Given the description of an element on the screen output the (x, y) to click on. 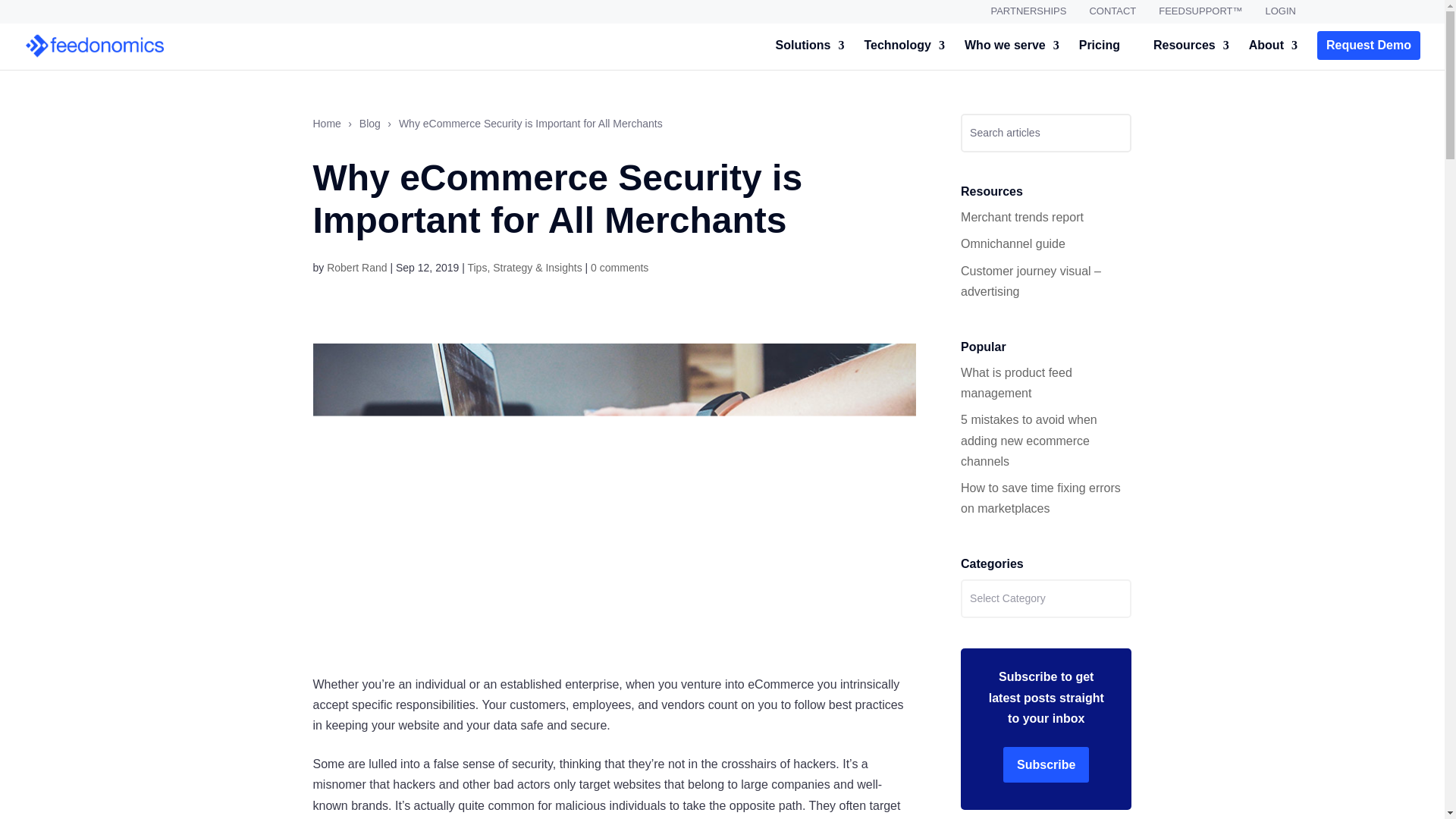
PARTNERSHIPS (1027, 14)
Pricing (1098, 52)
LOGIN (1280, 14)
CONTACT (1112, 14)
Posts by Robert Rand (356, 267)
